Given the description of an element on the screen output the (x, y) to click on. 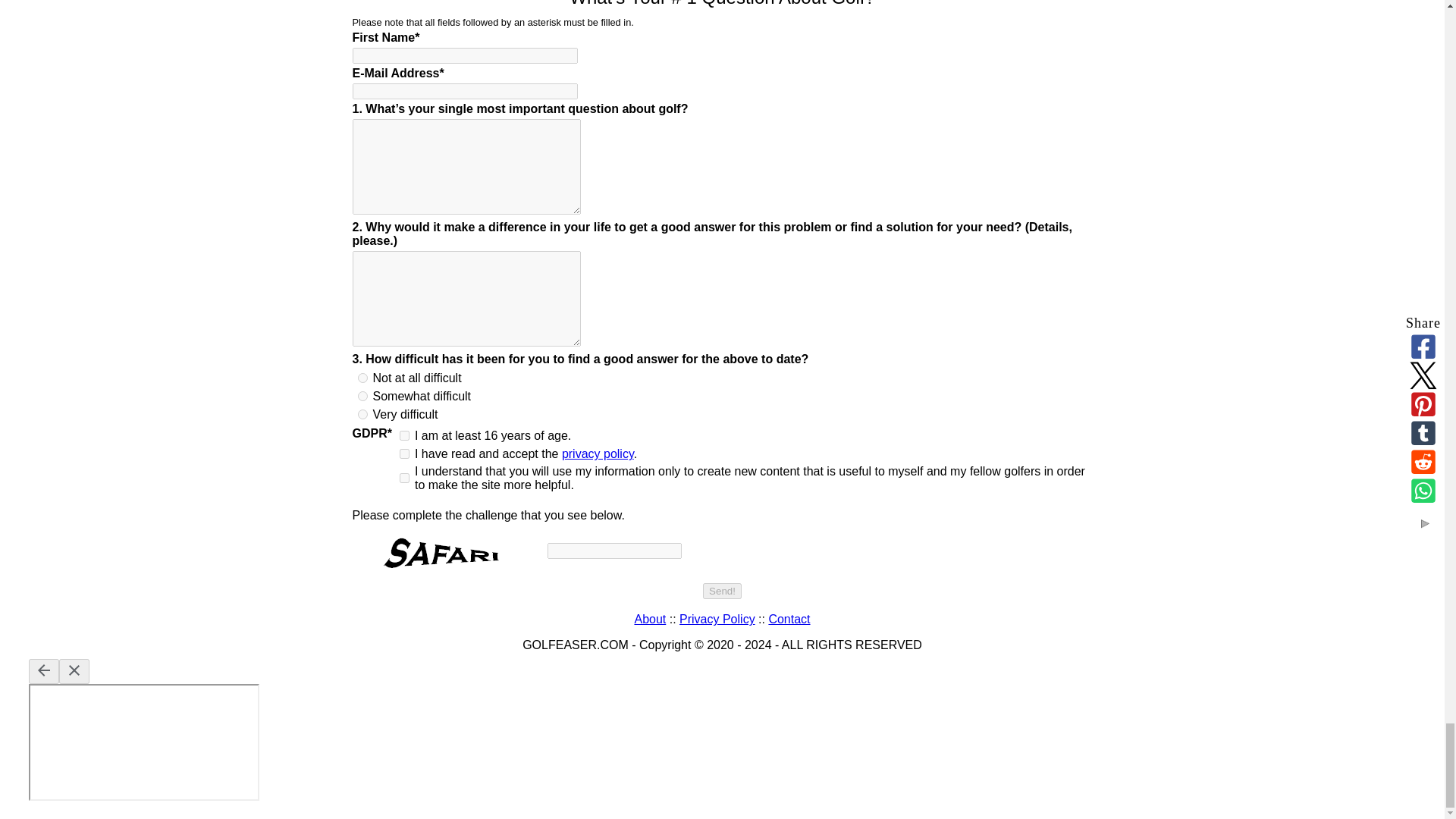
Not at all difficult (363, 378)
Send! (722, 590)
Very difficult (363, 414)
I am at least 16 years of age. (403, 435)
Somewhat difficult (363, 396)
